Given the description of an element on the screen output the (x, y) to click on. 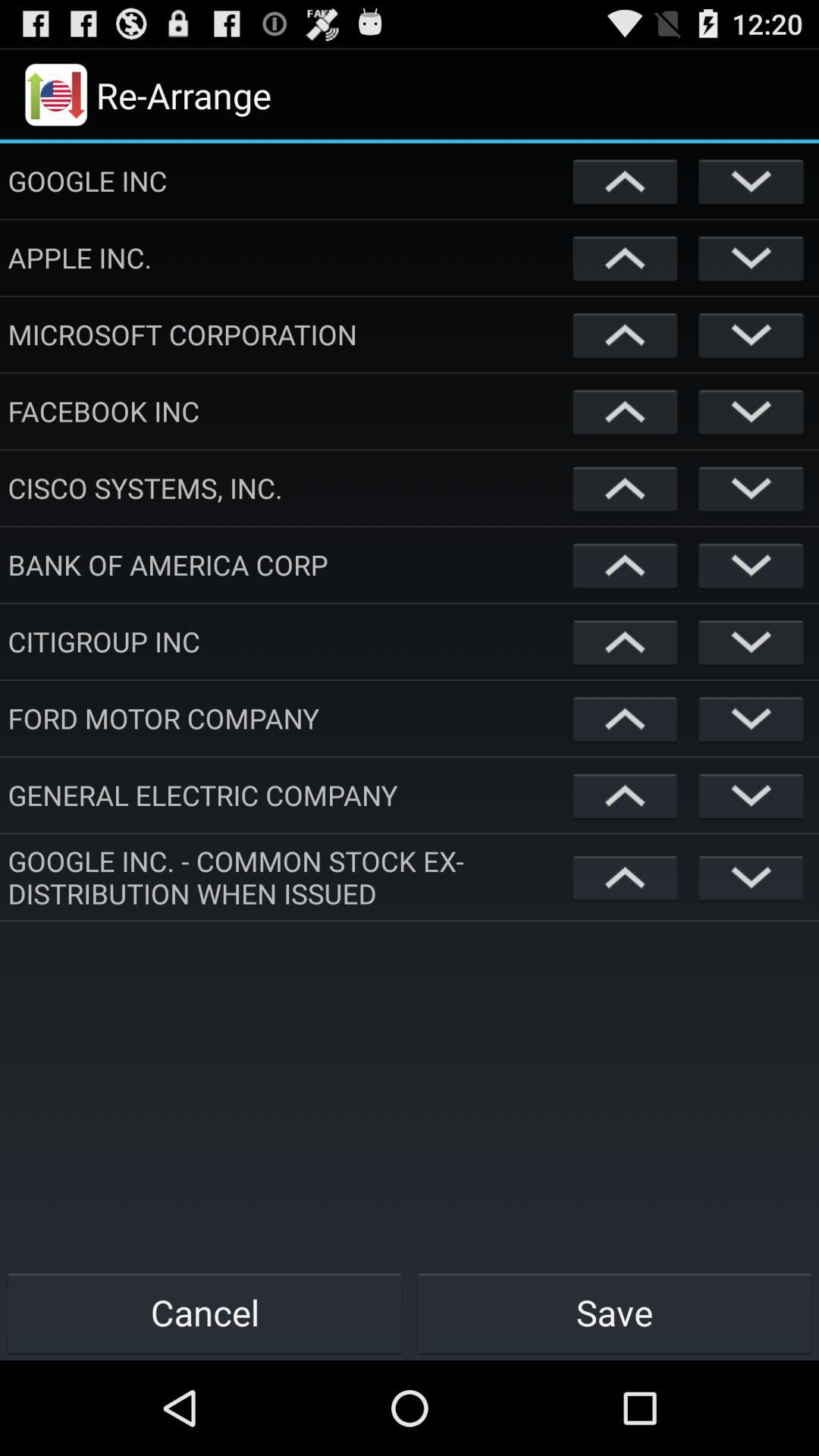
jump until the citigroup inc item (286, 641)
